Given the description of an element on the screen output the (x, y) to click on. 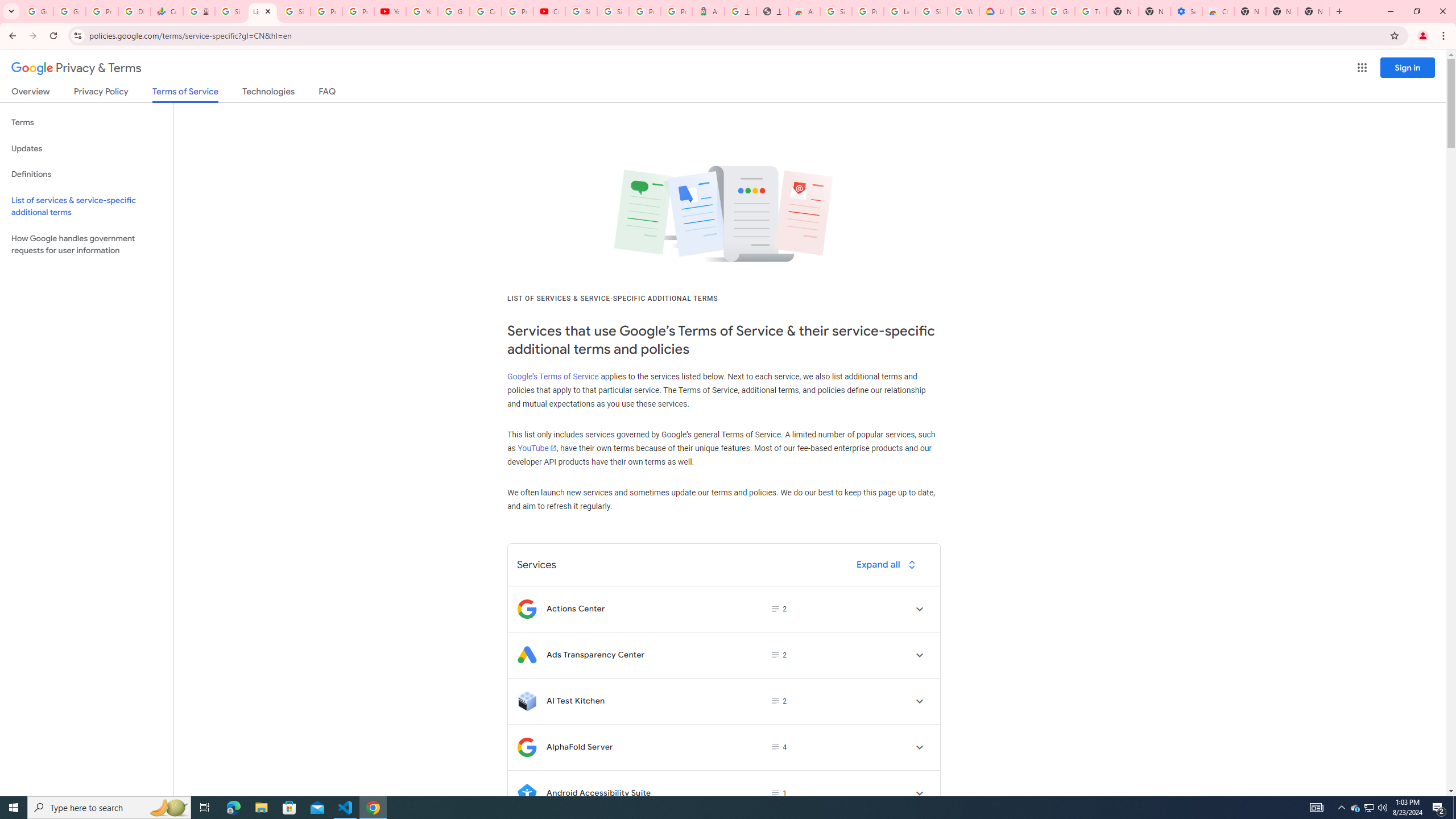
Logo for AI Test Kitchen (526, 700)
Sign in - Google Accounts (230, 11)
Logo for AlphaFold Server (526, 746)
How Google handles government requests for user information (86, 244)
Privacy Checkup (358, 11)
